Given the description of an element on the screen output the (x, y) to click on. 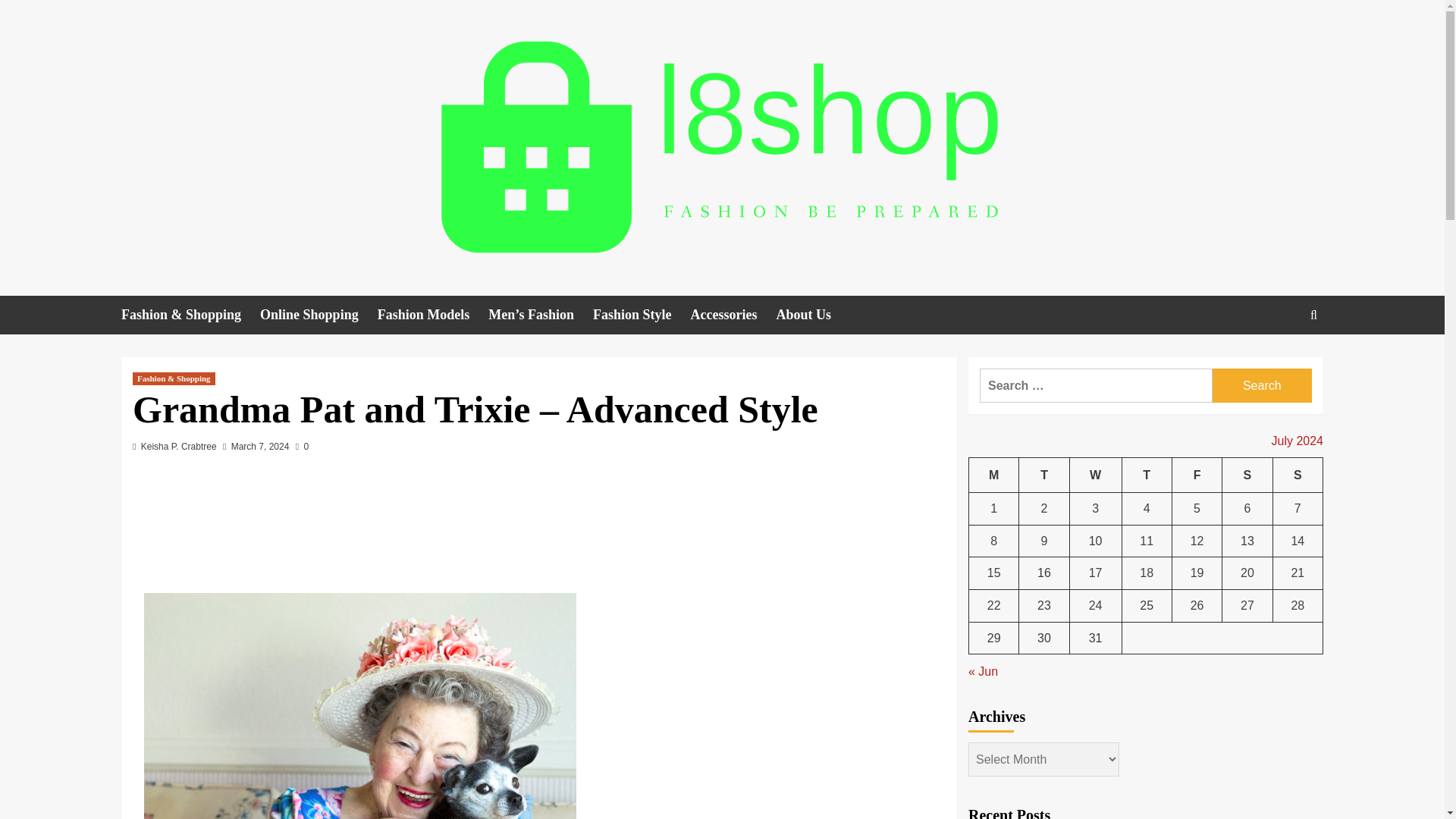
Search (1261, 385)
Online Shopping (318, 314)
Fashion Models (433, 314)
Friday (1196, 475)
Search (1261, 385)
Fashion Style (641, 314)
Tuesday (1043, 475)
About Us (813, 314)
Sunday (1297, 475)
March 7, 2024 (260, 446)
Search (1313, 315)
Search (1278, 360)
Accessories (733, 314)
Thursday (1146, 475)
Monday (994, 475)
